Given the description of an element on the screen output the (x, y) to click on. 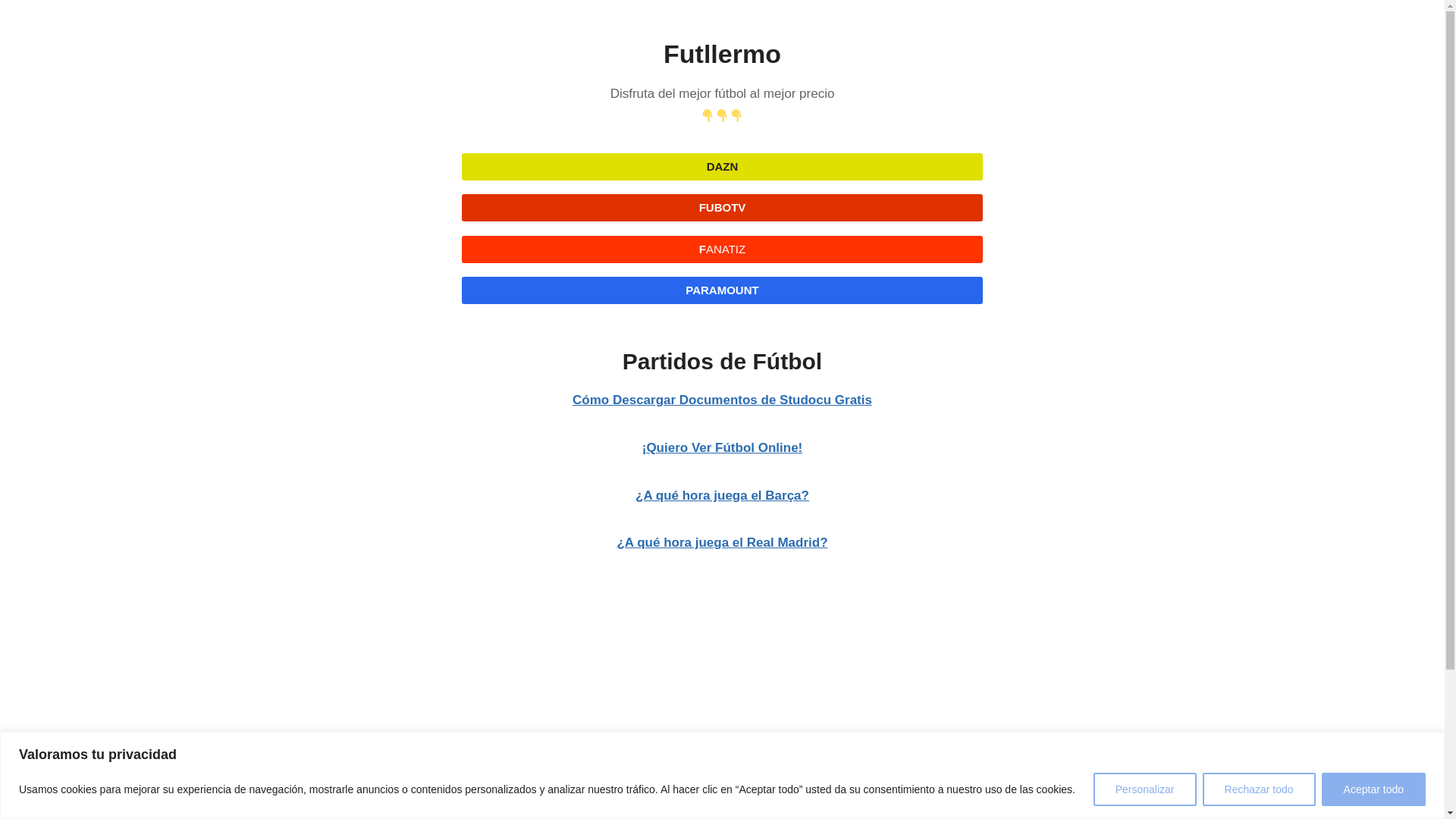
DAZN (721, 166)
FUBOTV (721, 207)
FANATIZ (721, 248)
PARAMOUNT (721, 289)
Aceptar todo (1373, 788)
Rechazar todo (1259, 788)
Personalizar (1144, 788)
